Given the description of an element on the screen output the (x, y) to click on. 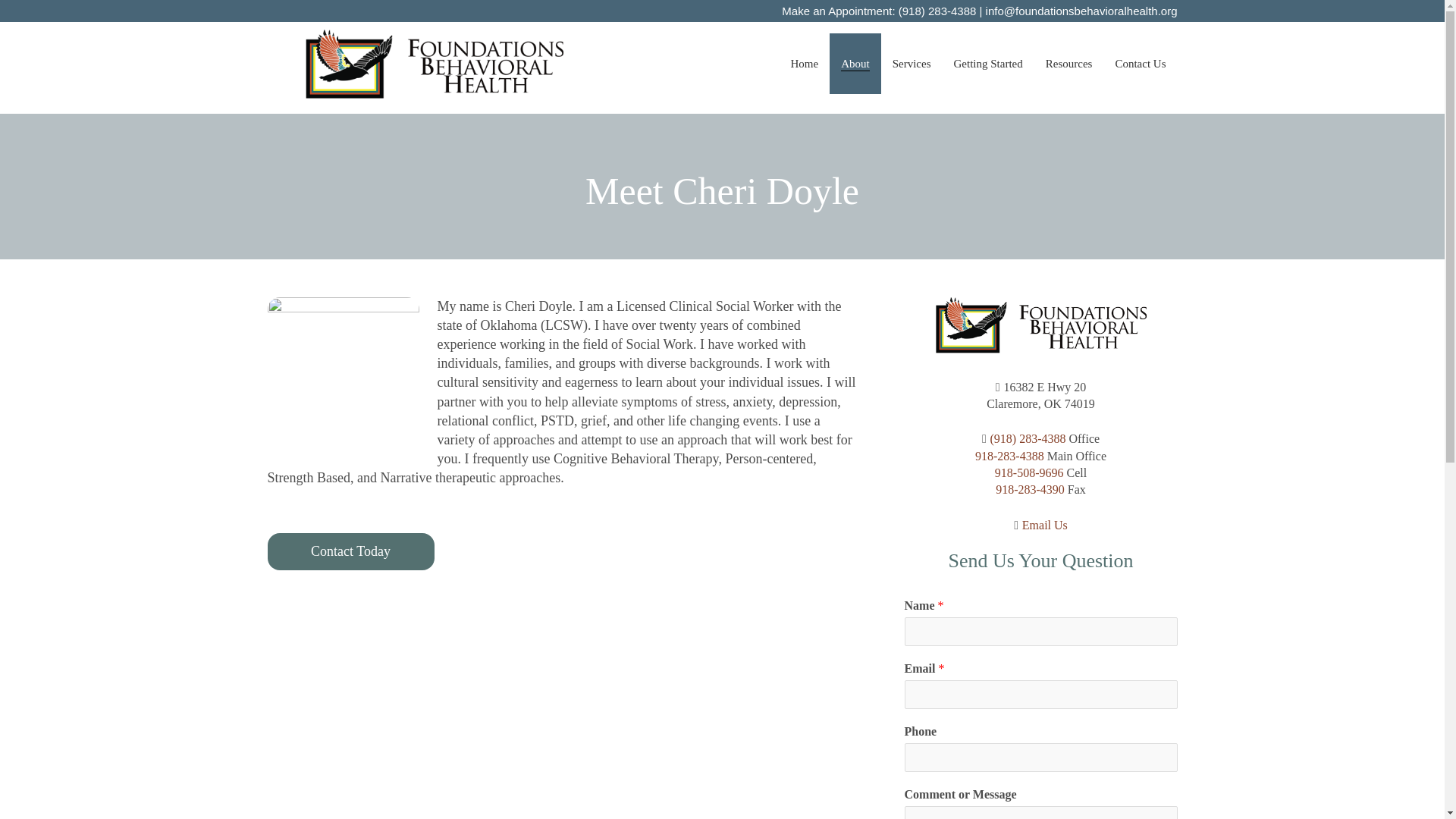
Resources (1068, 63)
Contact Us (1139, 63)
Getting Started (987, 63)
Services (911, 63)
